Given the description of an element on the screen output the (x, y) to click on. 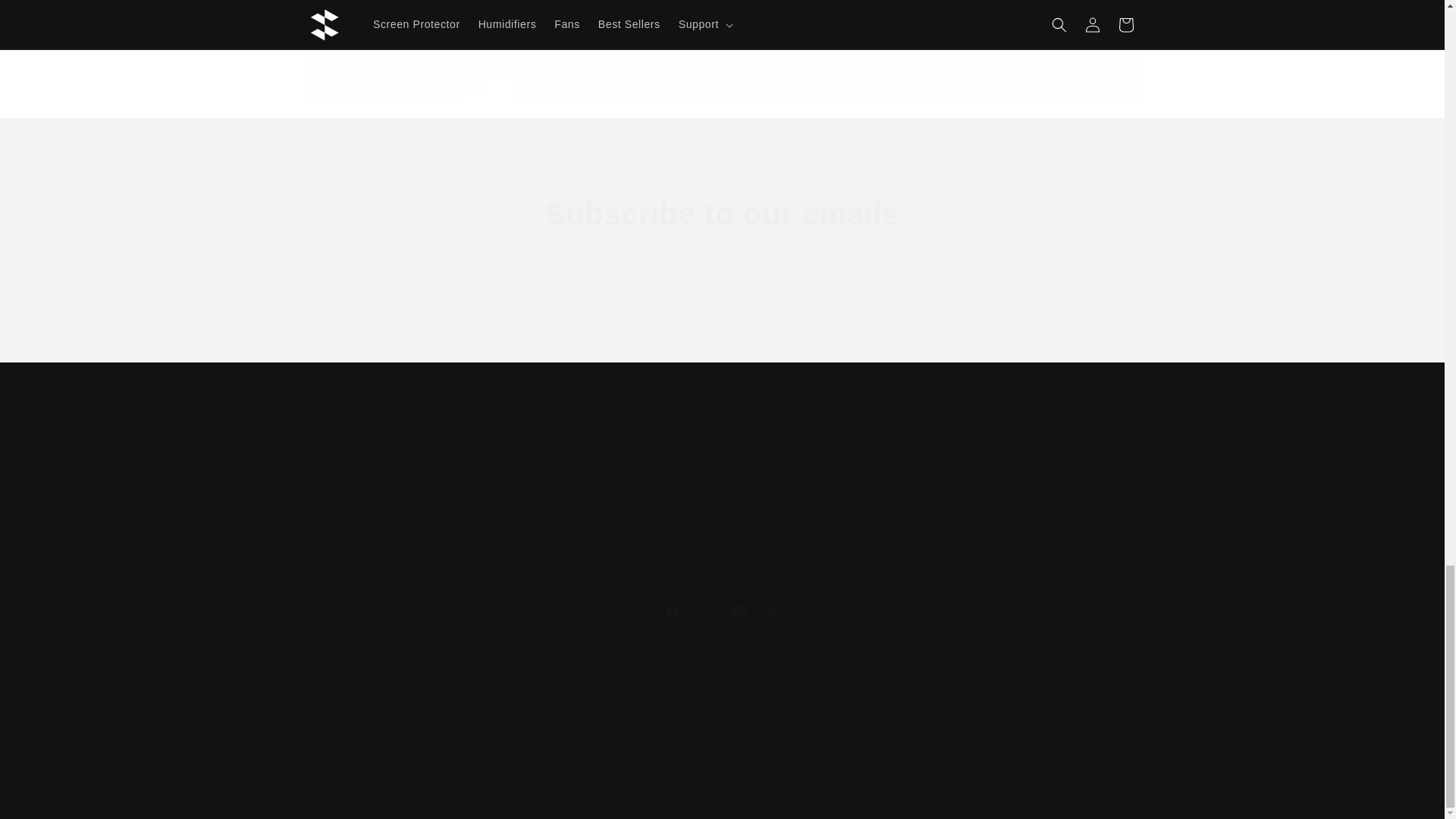
Humidifiers (826, 74)
More (617, 503)
Screen Protector (406, 503)
Fans (721, 611)
Indirizzo email (1038, 74)
Subscribe to our emails (406, 74)
